Given the description of an element on the screen output the (x, y) to click on. 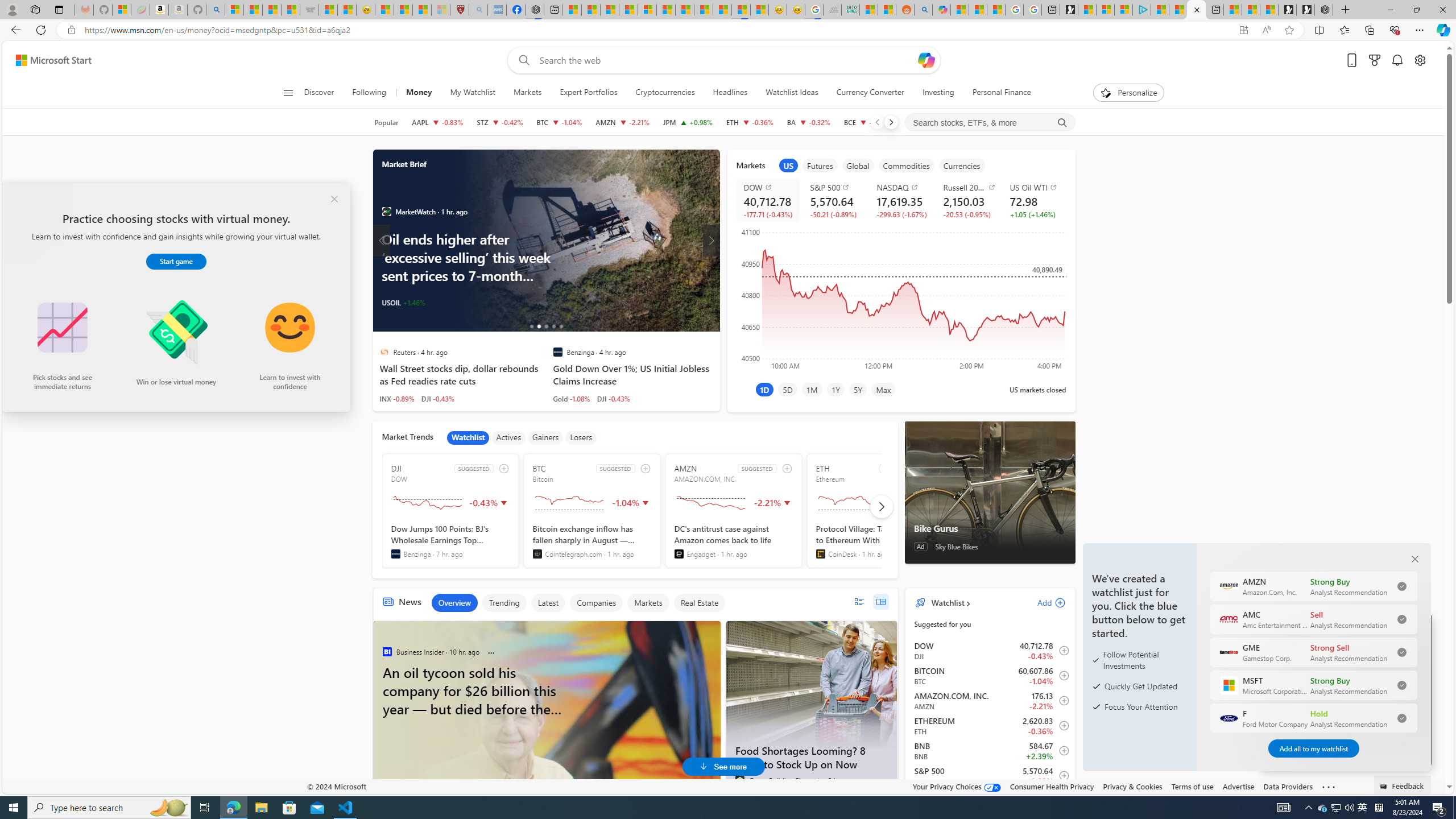
Watchlist Ideas (791, 92)
5D (787, 389)
Markets (647, 602)
Bike Gurus (988, 527)
ETH SUGGESTED Ethereum (874, 510)
Gold -1.08% (571, 397)
show card (22, 204)
Data Providers (1288, 786)
